Given the description of an element on the screen output the (x, y) to click on. 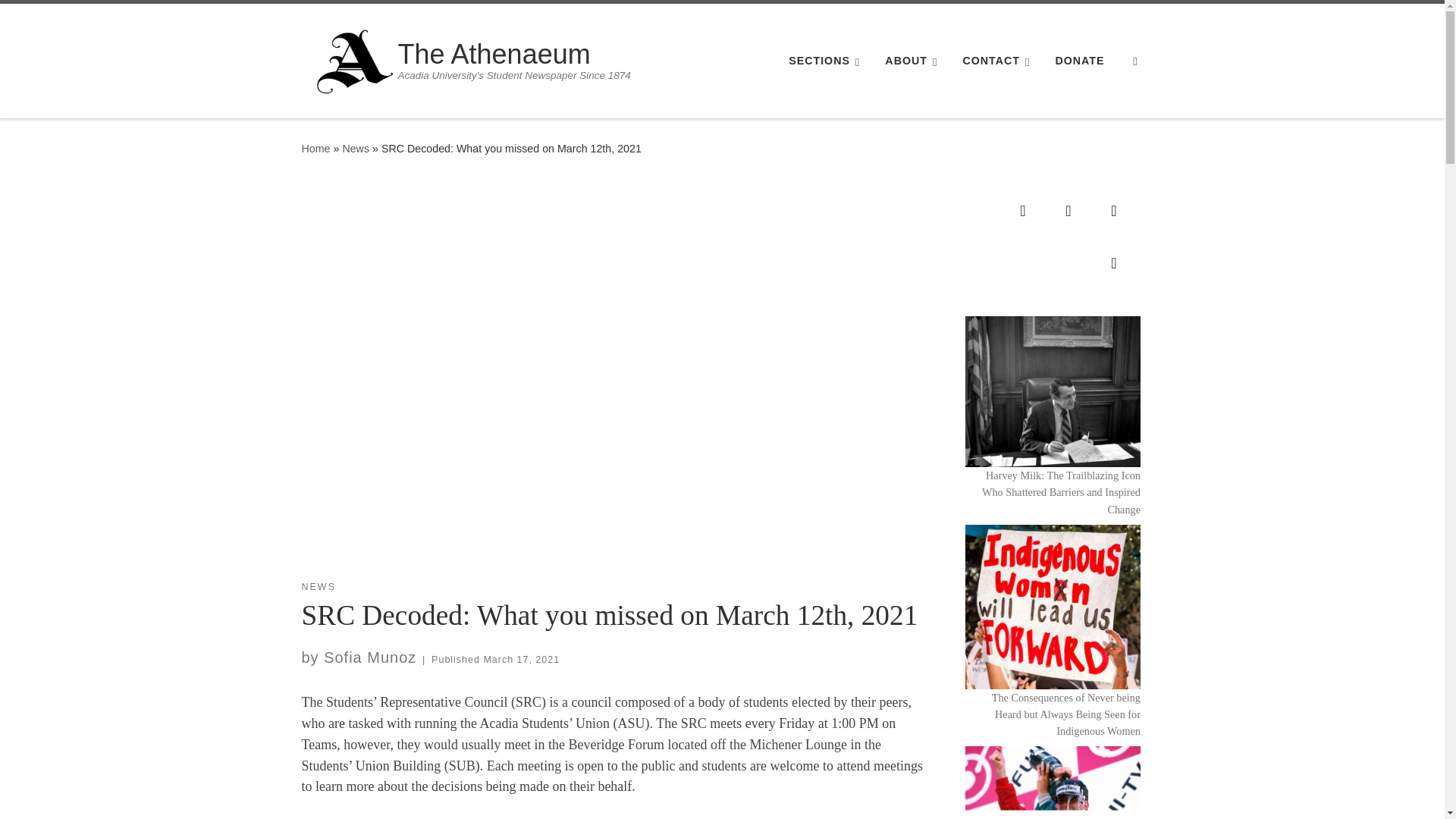
View all posts by Sofia Munoz (369, 657)
The Athenaeum (315, 148)
CONTACT (999, 60)
ABOUT (914, 60)
DONATE (1079, 60)
News (355, 148)
Skip to content (60, 20)
The Athenaeum (514, 53)
11:21 am (521, 659)
SECTIONS (827, 60)
